Given the description of an element on the screen output the (x, y) to click on. 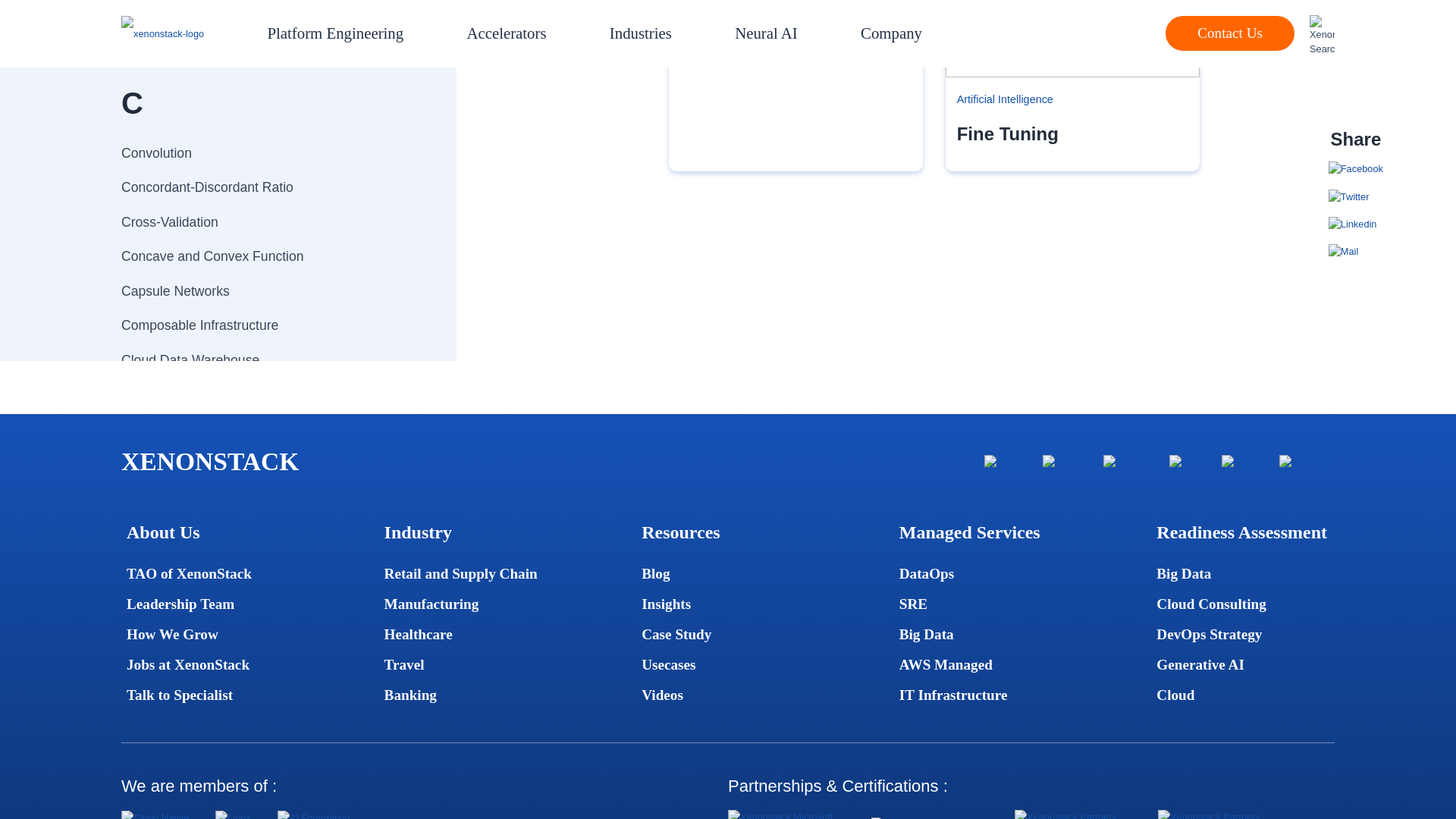
Concordant-Discordant Ratio (262, 187)
Convolution (262, 152)
Concave and Convex Function (262, 256)
Business Analytics (262, 28)
Capsule Networks (262, 290)
Bayesian Statistics (262, 6)
Cross-Validation (262, 221)
